Given the description of an element on the screen output the (x, y) to click on. 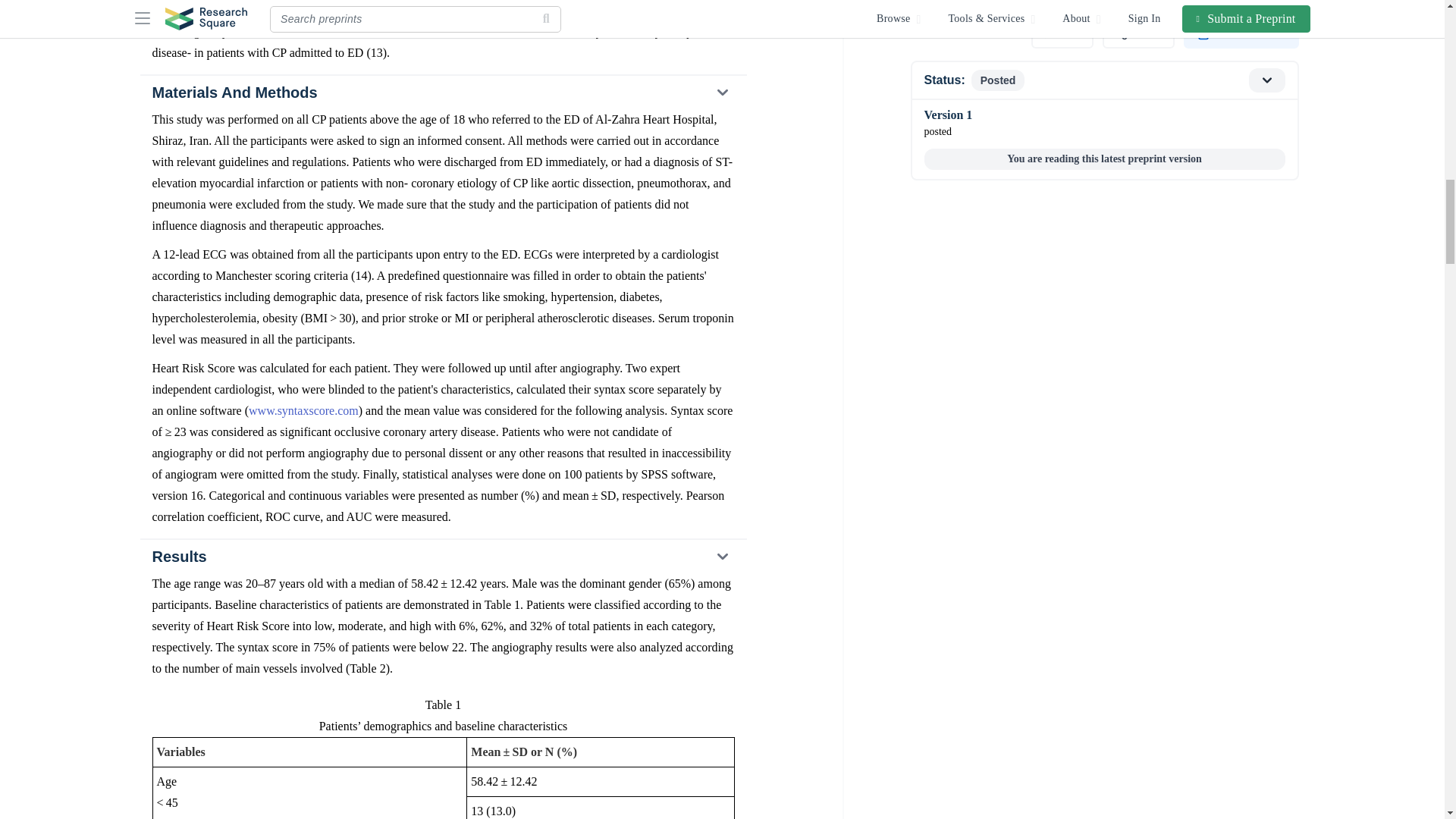
www.syntaxscore.com (303, 410)
Results (442, 556)
Materials And Methods (442, 92)
